Given the description of an element on the screen output the (x, y) to click on. 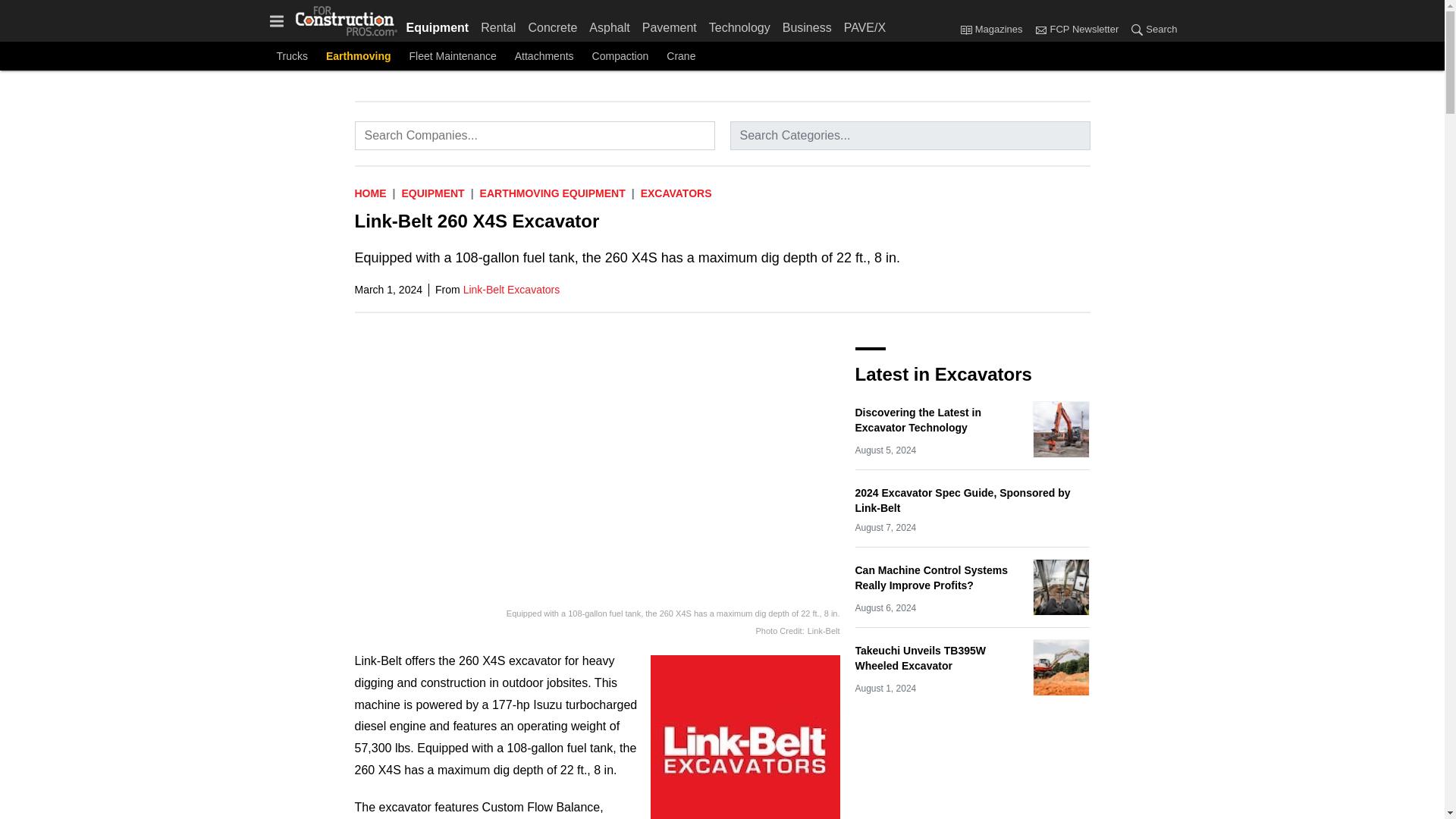
Equipment (441, 24)
Home (371, 193)
Trucks (291, 55)
Magazines (994, 29)
Search (1150, 29)
Asphalt (608, 24)
Concrete (552, 24)
Business (807, 24)
Excavators (675, 193)
Rental (497, 24)
